Given the description of an element on the screen output the (x, y) to click on. 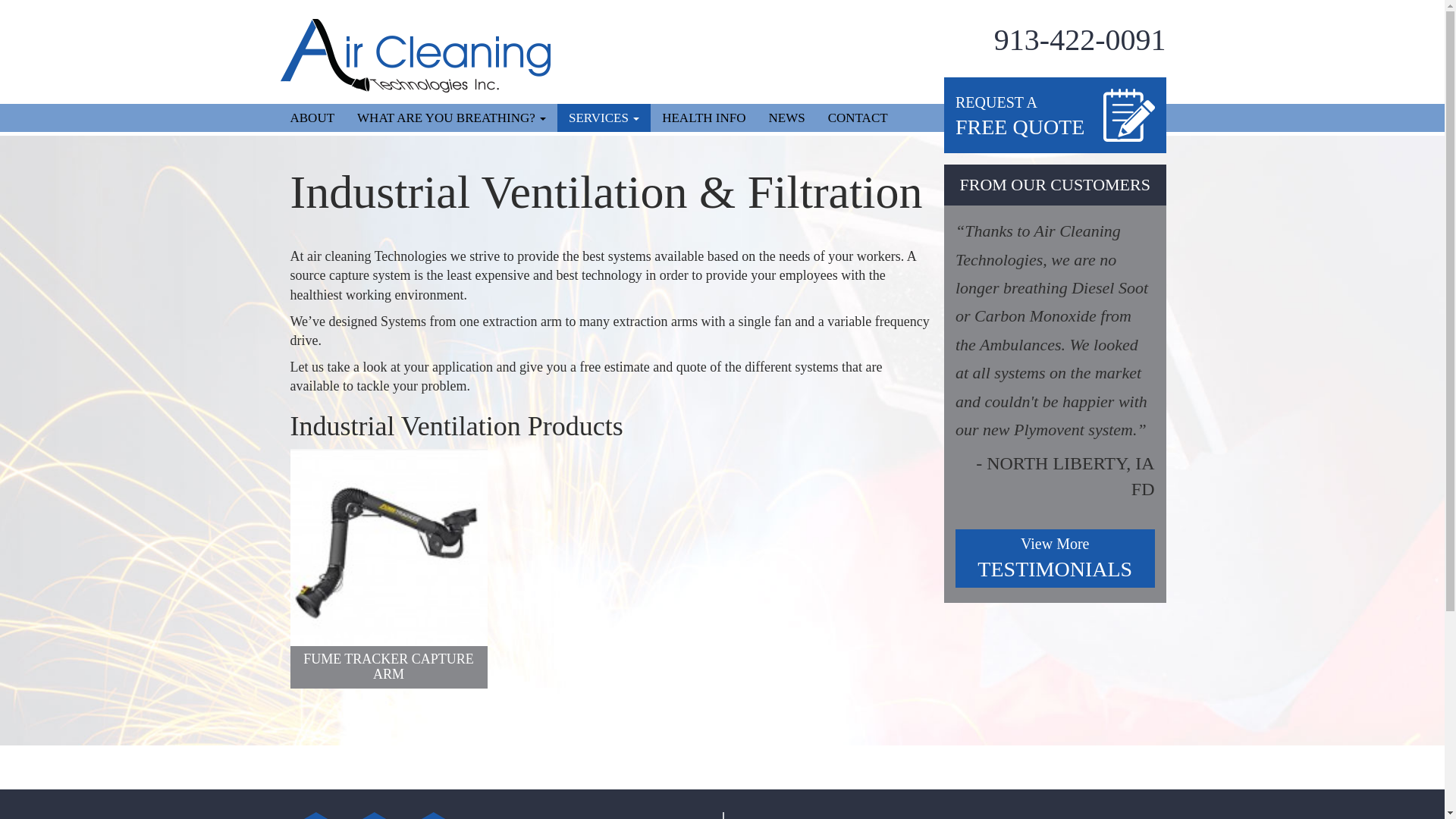
Testimonials Page (1054, 114)
NEWS (1054, 558)
FUME TRACKER CAPTURE ARM (786, 117)
WHAT ARE YOU BREATHING? (1054, 558)
CONTACT (387, 612)
ABOUT (451, 117)
HEALTH INFO (857, 117)
Contact Page (312, 117)
SERVICES (703, 117)
913-422-0091 (1054, 114)
product (603, 117)
